Given the description of an element on the screen output the (x, y) to click on. 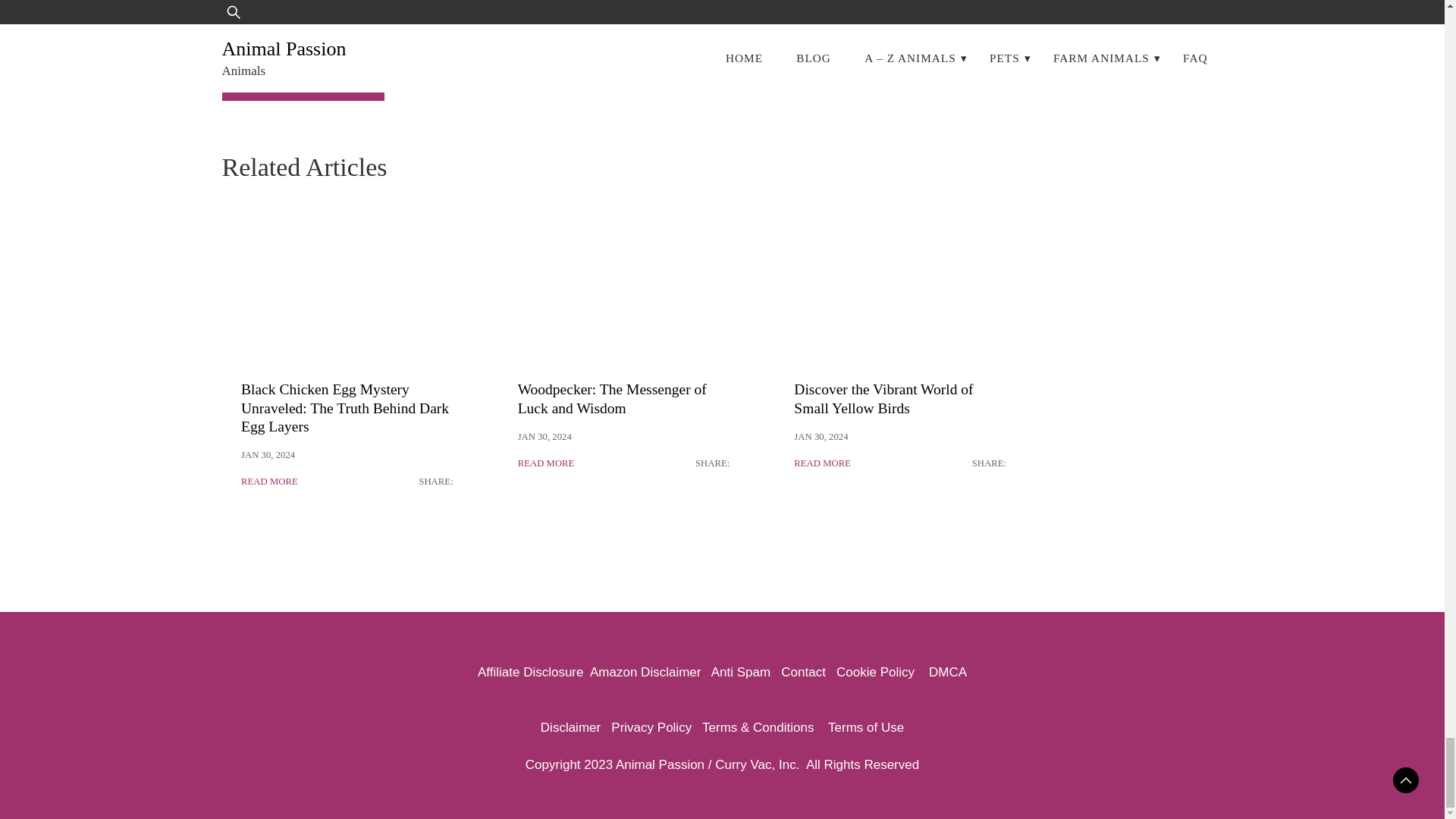
Post Comment (302, 78)
yes (226, 26)
